Given the description of an element on the screen output the (x, y) to click on. 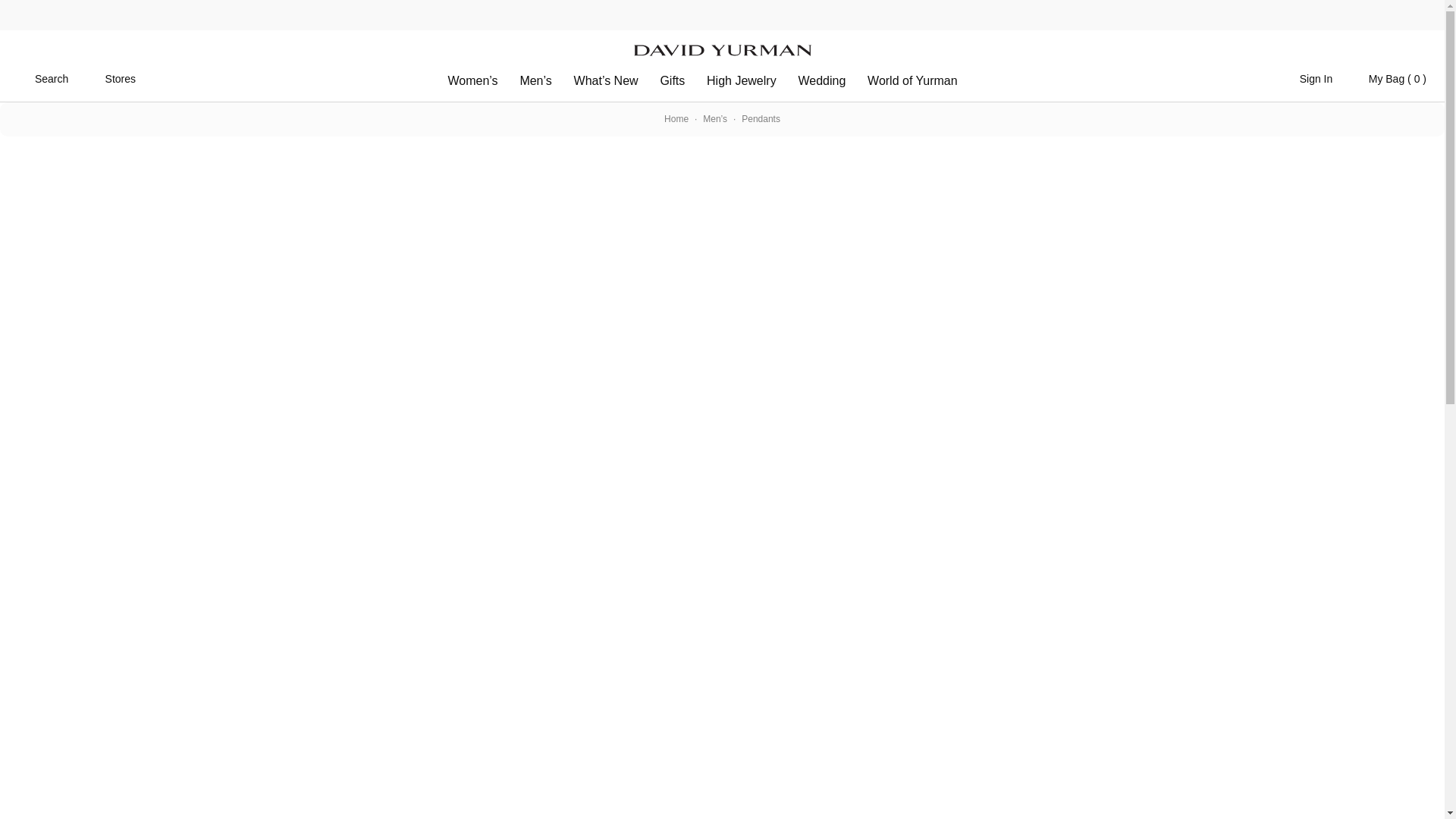
Search (42, 77)
Stores (109, 77)
Stores (109, 77)
David Yurman Home (720, 48)
Search (42, 77)
Cart 0 Items (1387, 77)
